Given the description of an element on the screen output the (x, y) to click on. 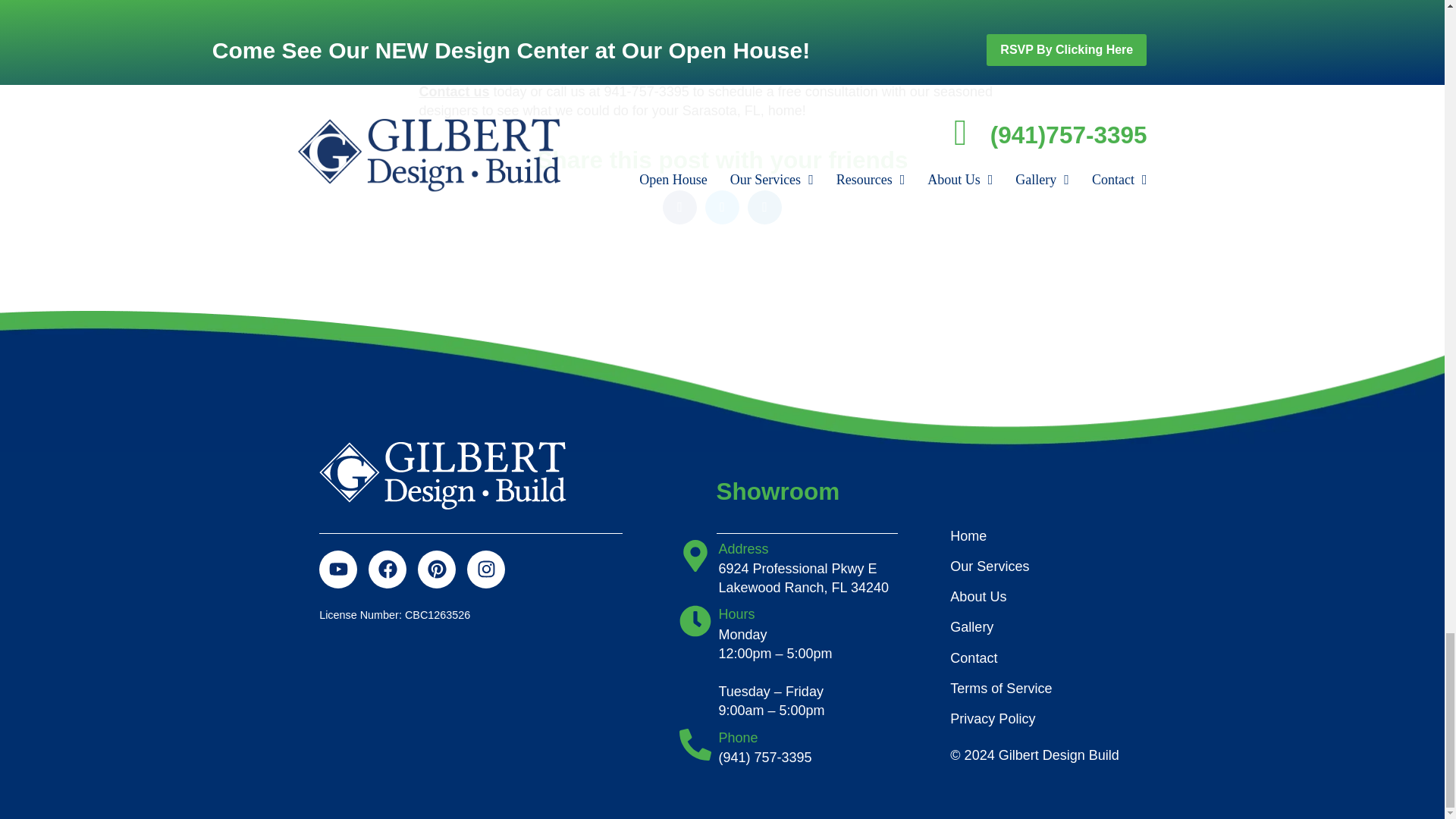
Gilbert Design Build (442, 475)
Contact us (454, 91)
